Given the description of an element on the screen output the (x, y) to click on. 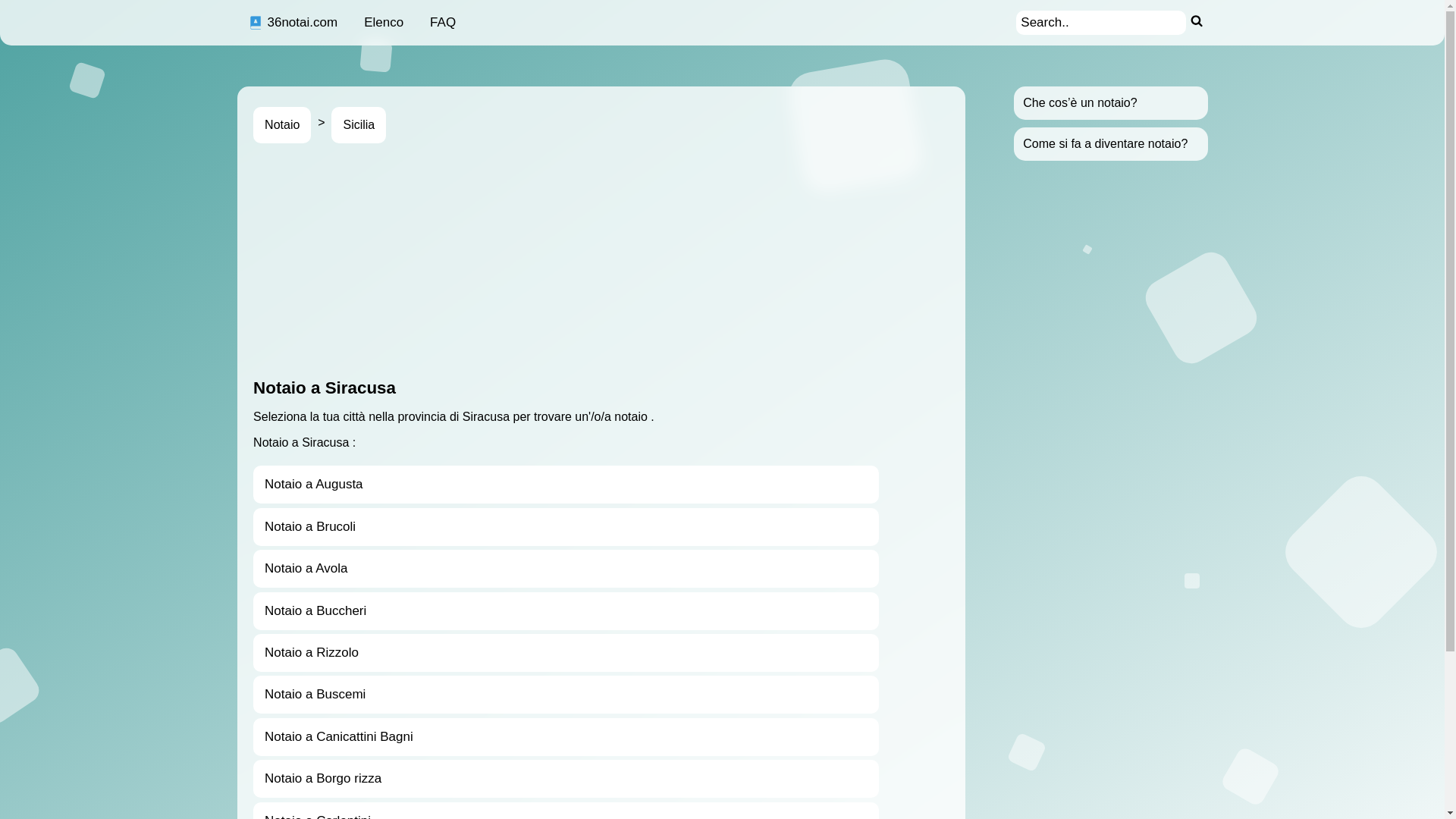
Notaio a Buscemi Element type: text (565, 694)
Notaio a Rizzolo Element type: text (565, 652)
Notaio a Augusta Element type: text (565, 484)
Advertisement Element type: hover (708, 260)
Notaio a Borgo rizza Element type: text (565, 778)
Notaio a Canicattini Bagni Element type: text (565, 737)
Come si fa a diventare notaio? Element type: text (1104, 143)
Notaio a Brucoli Element type: text (565, 527)
FAQ Element type: text (442, 22)
36notai.com Element type: text (292, 22)
Elenco Element type: text (383, 22)
Notaio a Buccheri Element type: text (565, 611)
Notaio Element type: text (281, 124)
Notaio a Avola Element type: text (565, 568)
Sicilia Element type: text (358, 124)
